Given the description of an element on the screen output the (x, y) to click on. 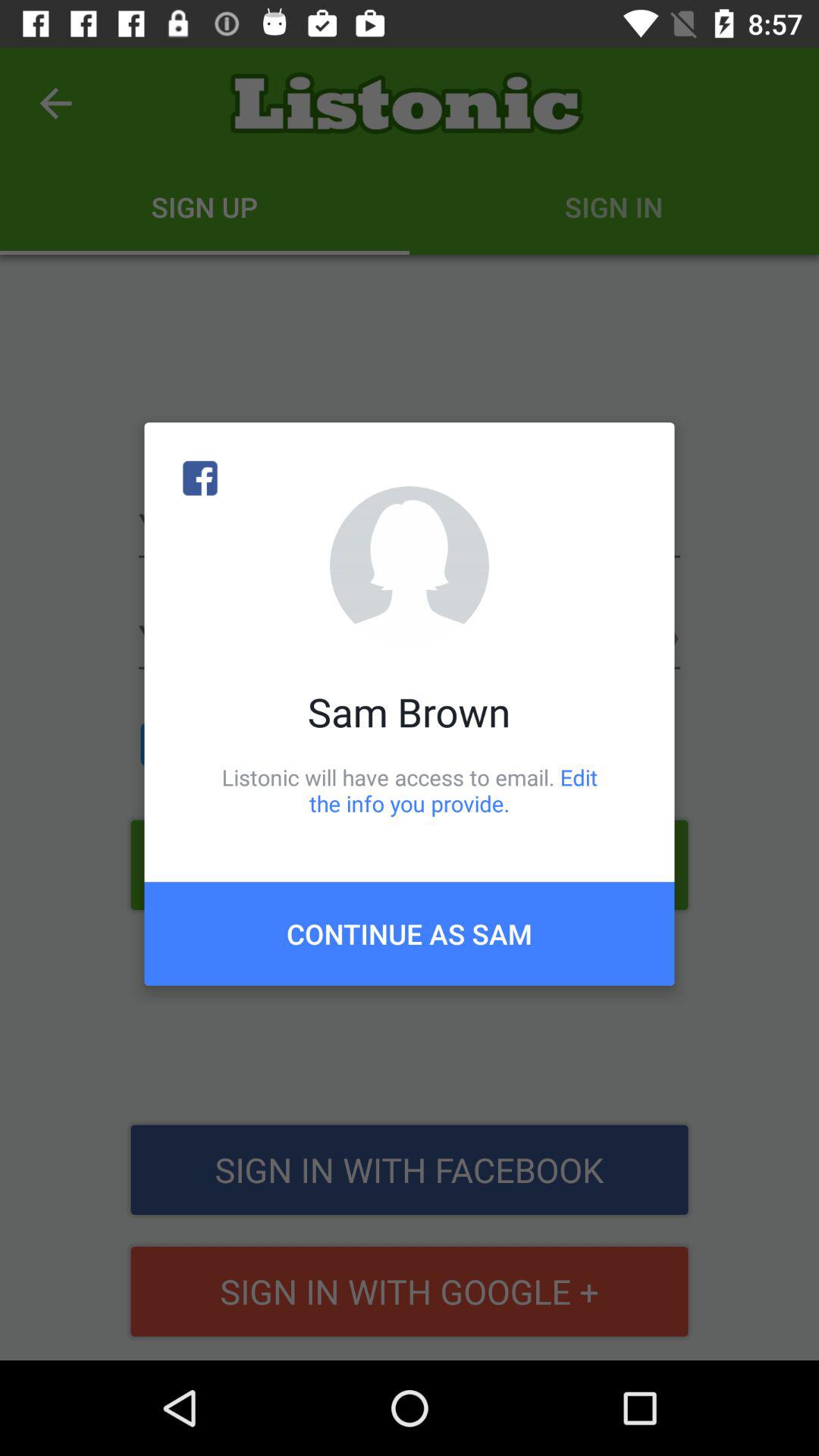
flip to the continue as sam (409, 933)
